Given the description of an element on the screen output the (x, y) to click on. 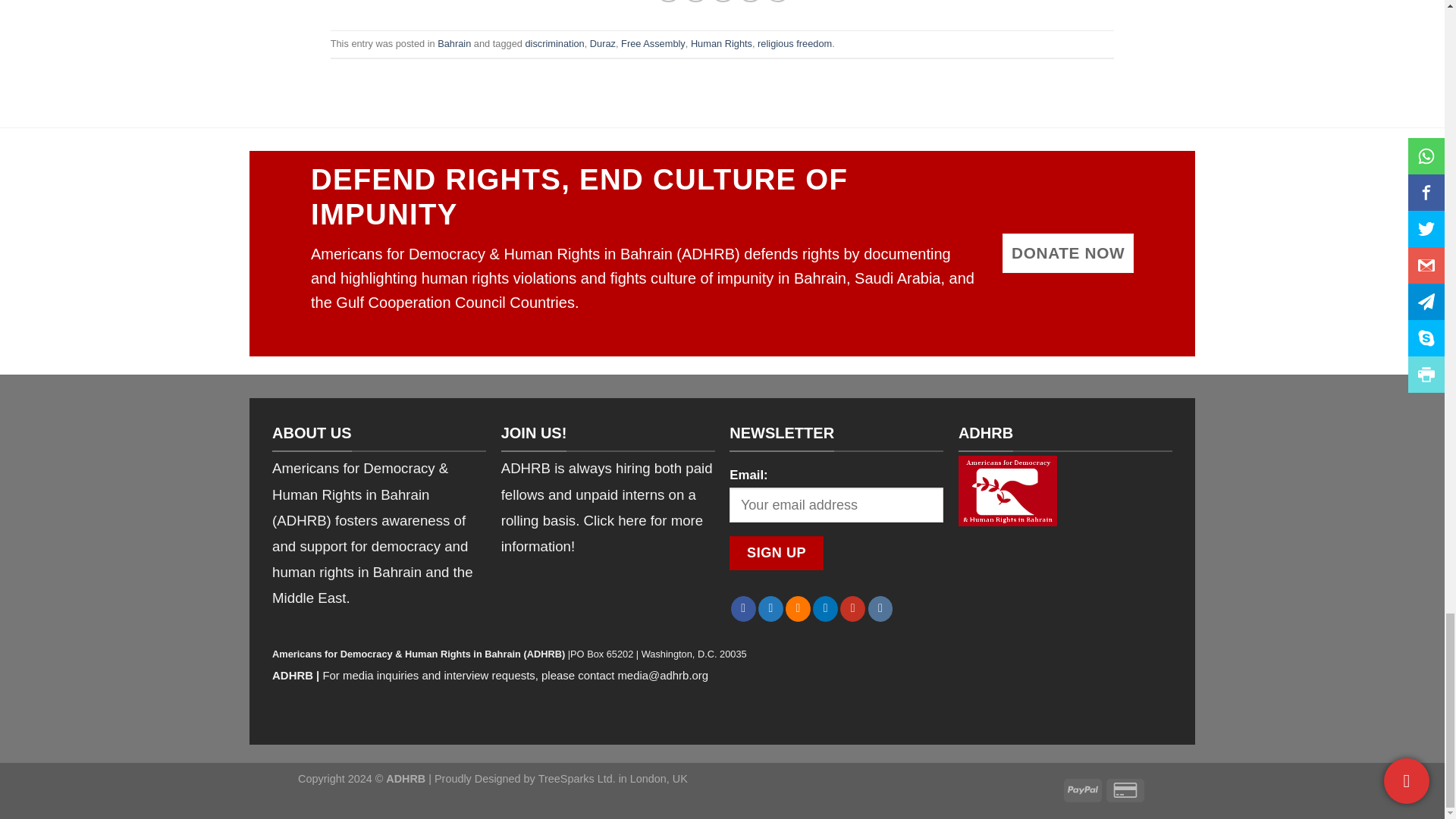
Follow on YouTube (852, 608)
Follow on Twitter (770, 608)
Share on LinkedIn (777, 1)
Subscribe to RSS (798, 608)
Follow on LinkedIn (825, 608)
Share on Twitter (694, 1)
Pin on Pinterest (750, 1)
Email to a Friend (722, 1)
Follow on Facebook (742, 608)
Follow on VKontakte (879, 608)
Share on Facebook (668, 1)
Sign up (776, 553)
